Given the description of an element on the screen output the (x, y) to click on. 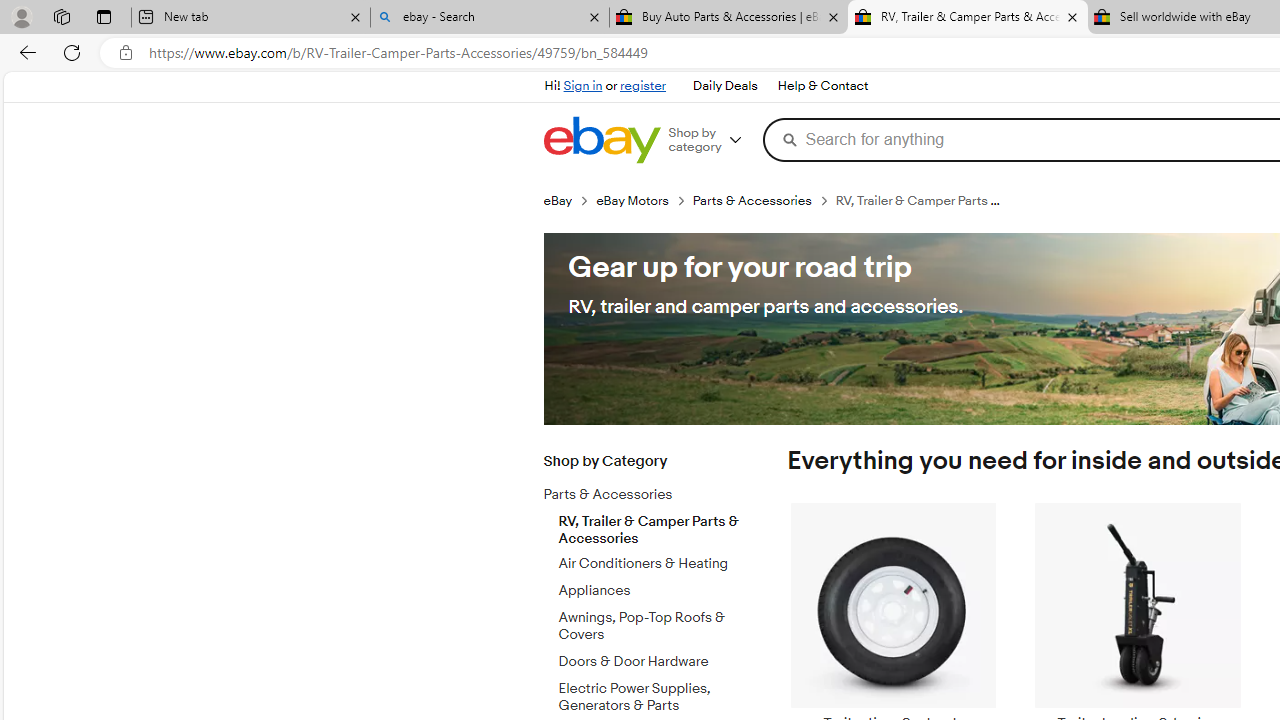
Help & Contact (822, 86)
eBay Motors (644, 200)
eBay Motors (632, 200)
register (642, 85)
Buy Auto Parts & Accessories | eBay (729, 17)
RV, Trailer & Camper Parts & Accessories for sale | eBay (967, 17)
Air Conditioners & Heating (653, 564)
Tab actions menu (104, 16)
